Given the description of an element on the screen output the (x, y) to click on. 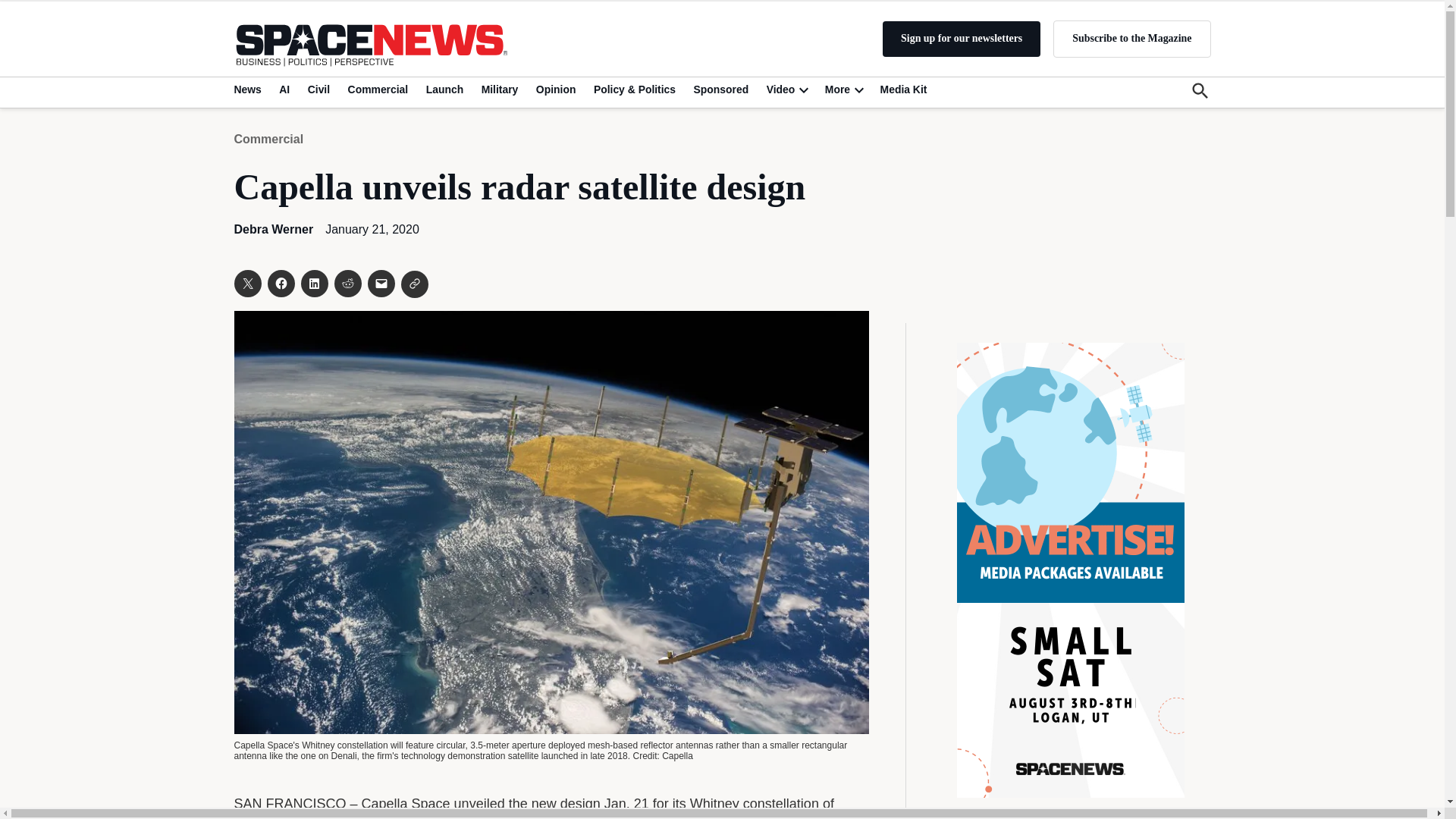
Click to email a link to a friend (380, 283)
Civil (318, 89)
Click to share on X (246, 283)
Media Kit (1070, 570)
Click to share on LinkedIn (313, 283)
Subscribe to the Magazine (1130, 38)
News (249, 89)
Click to share on Reddit (347, 283)
Sign up for our newsletters (961, 38)
AI (284, 89)
Click to share on Clipboard (414, 284)
Click to share on Facebook (280, 283)
